Given the description of an element on the screen output the (x, y) to click on. 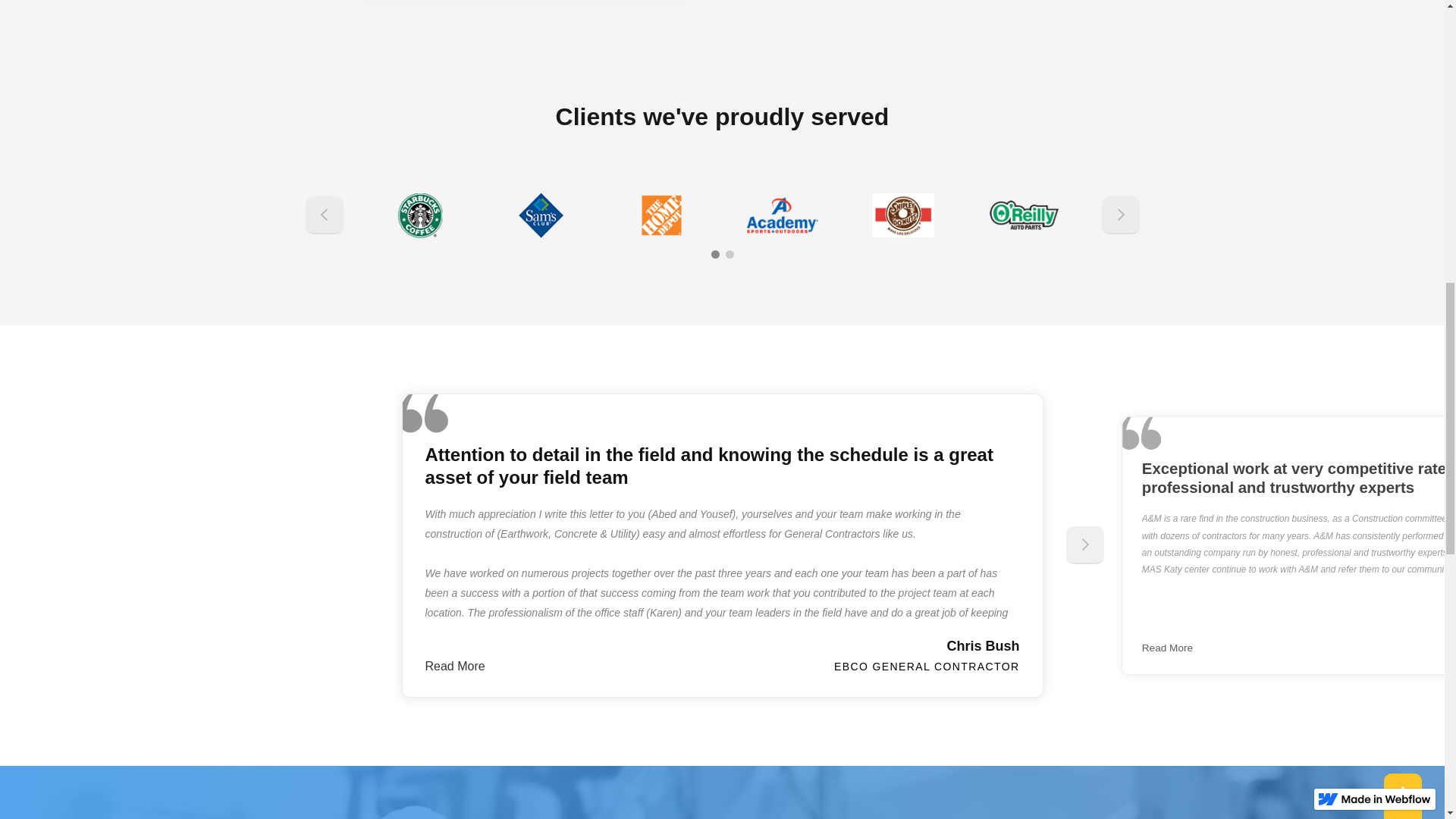
EBCO GENERAL CONTRACTOR (927, 666)
